Given the description of an element on the screen output the (x, y) to click on. 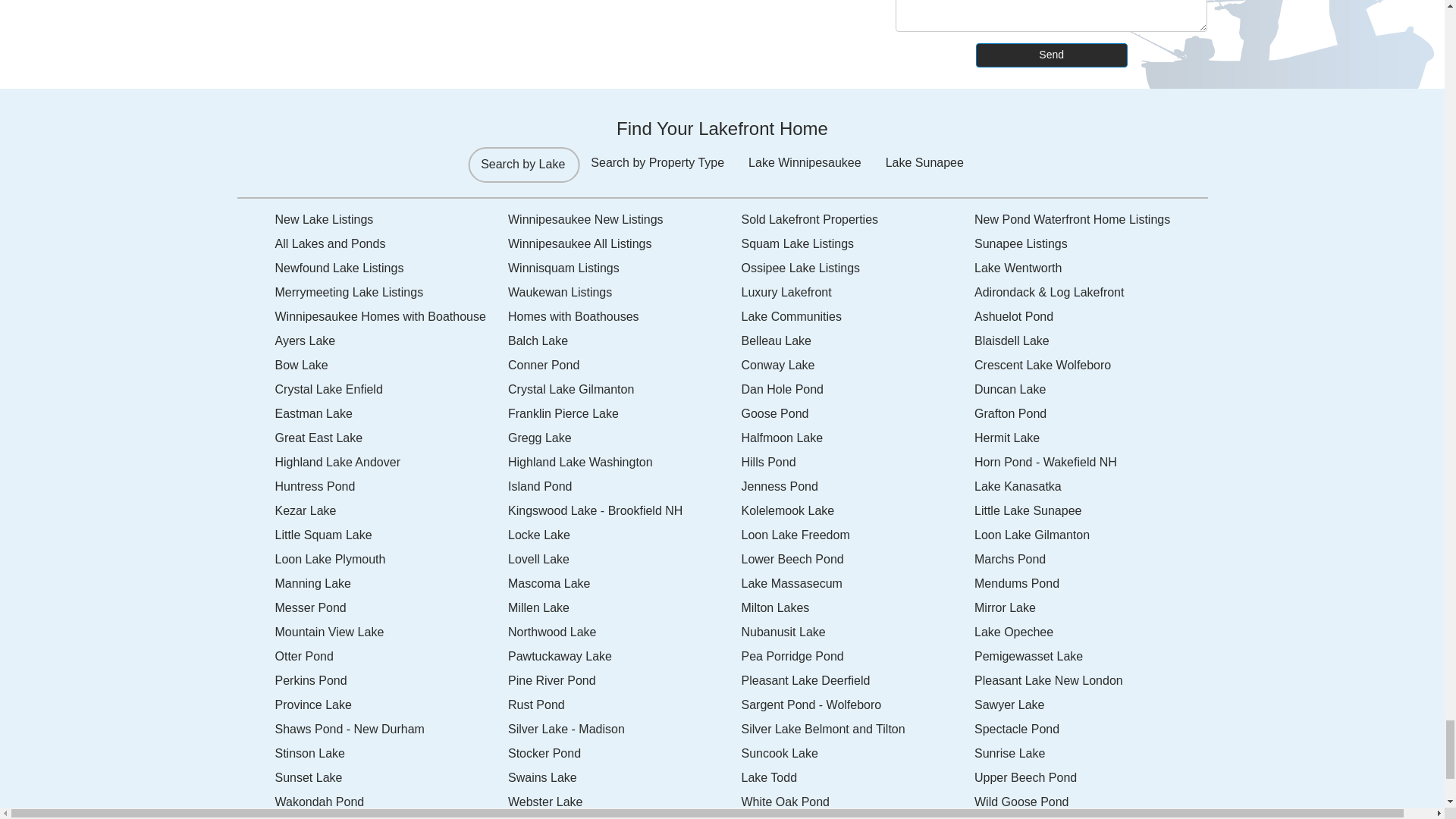
Explore new waterfront Homes in NH (391, 219)
Newly Listed Pond Front Homes in NH (1091, 219)
Lake Winnipesaukee Real Estate  (624, 244)
NH Sold Lakefront Properties  (858, 219)
New Winnipesaukee Waterfront Listing  (624, 219)
NH Lakes and Pond Property for Sale - All  (391, 244)
Send (1050, 55)
